Given the description of an element on the screen output the (x, y) to click on. 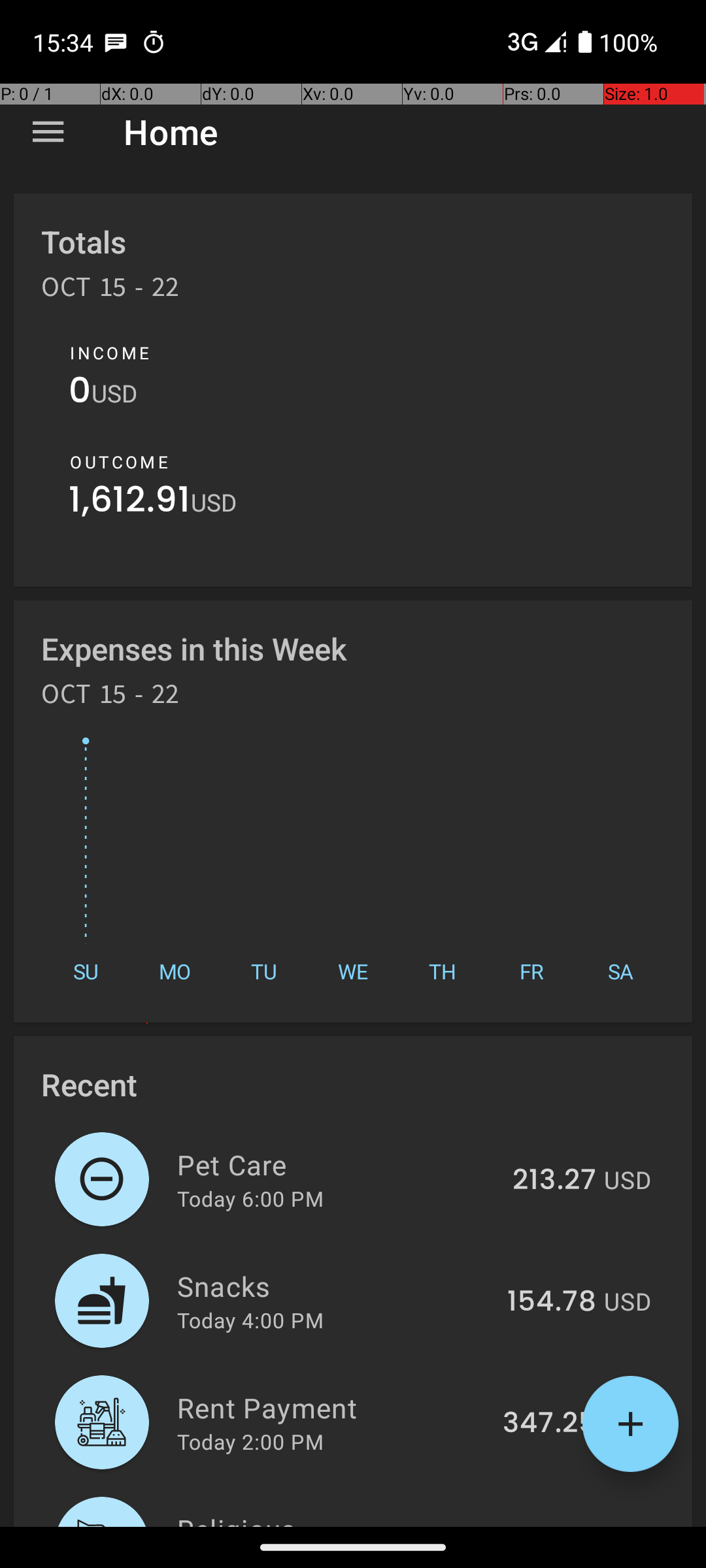
1,612.91 Element type: android.widget.TextView (129, 502)
Pet Care Element type: android.widget.TextView (337, 1164)
Today 6:00 PM Element type: android.widget.TextView (250, 1198)
213.27 Element type: android.widget.TextView (553, 1180)
Snacks Element type: android.widget.TextView (334, 1285)
Today 4:00 PM Element type: android.widget.TextView (250, 1320)
154.78 Element type: android.widget.TextView (551, 1301)
Rent Payment Element type: android.widget.TextView (332, 1407)
Today 2:00 PM Element type: android.widget.TextView (250, 1441)
347.25 Element type: android.widget.TextView (549, 1423)
Religious Element type: android.widget.TextView (331, 1518)
457.52 Element type: android.widget.TextView (548, 1524)
